Given the description of an element on the screen output the (x, y) to click on. 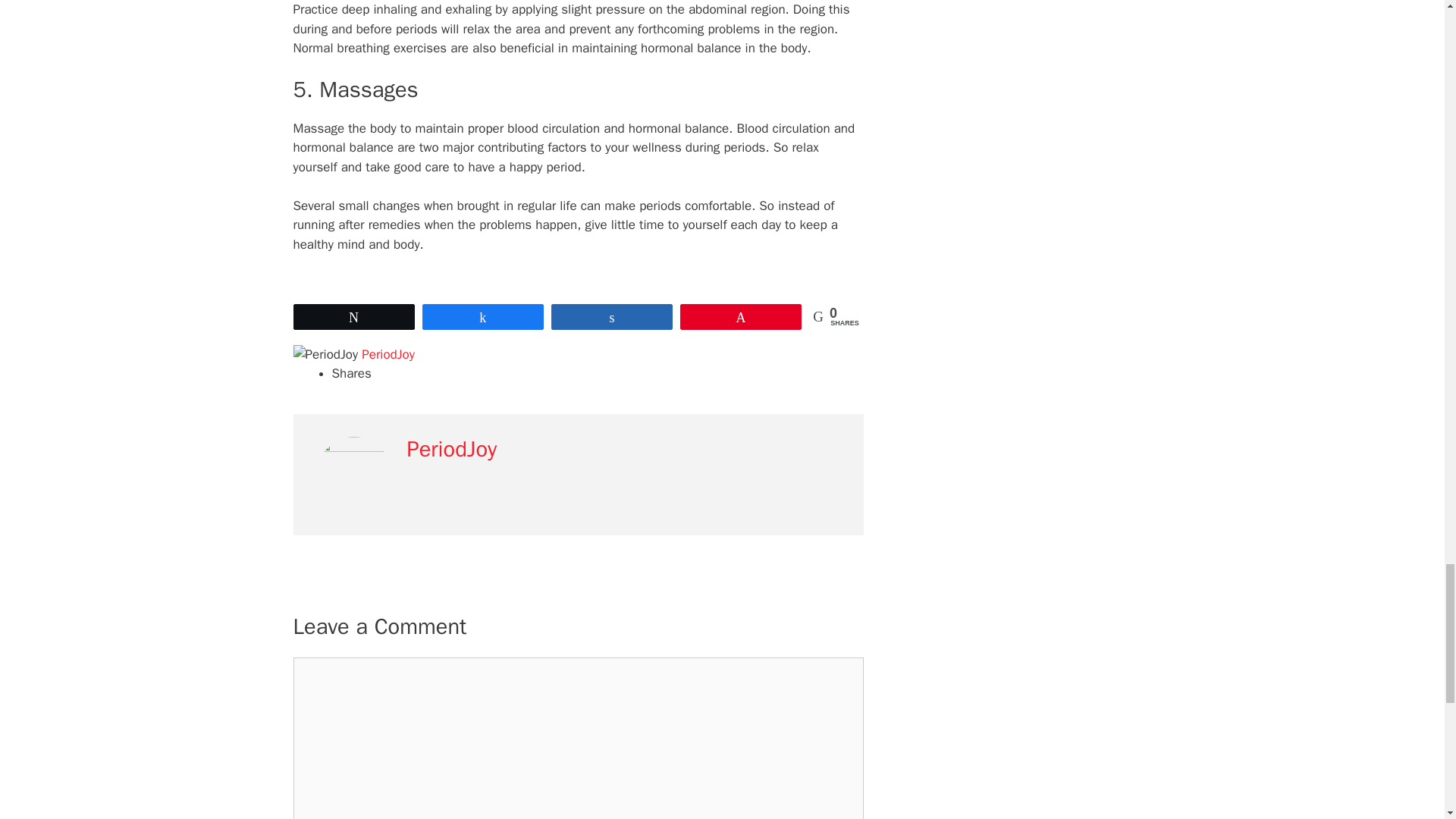
PeriodJoy (451, 448)
View all posts by PeriodJoy (387, 354)
PeriodJoy (387, 354)
